Given the description of an element on the screen output the (x, y) to click on. 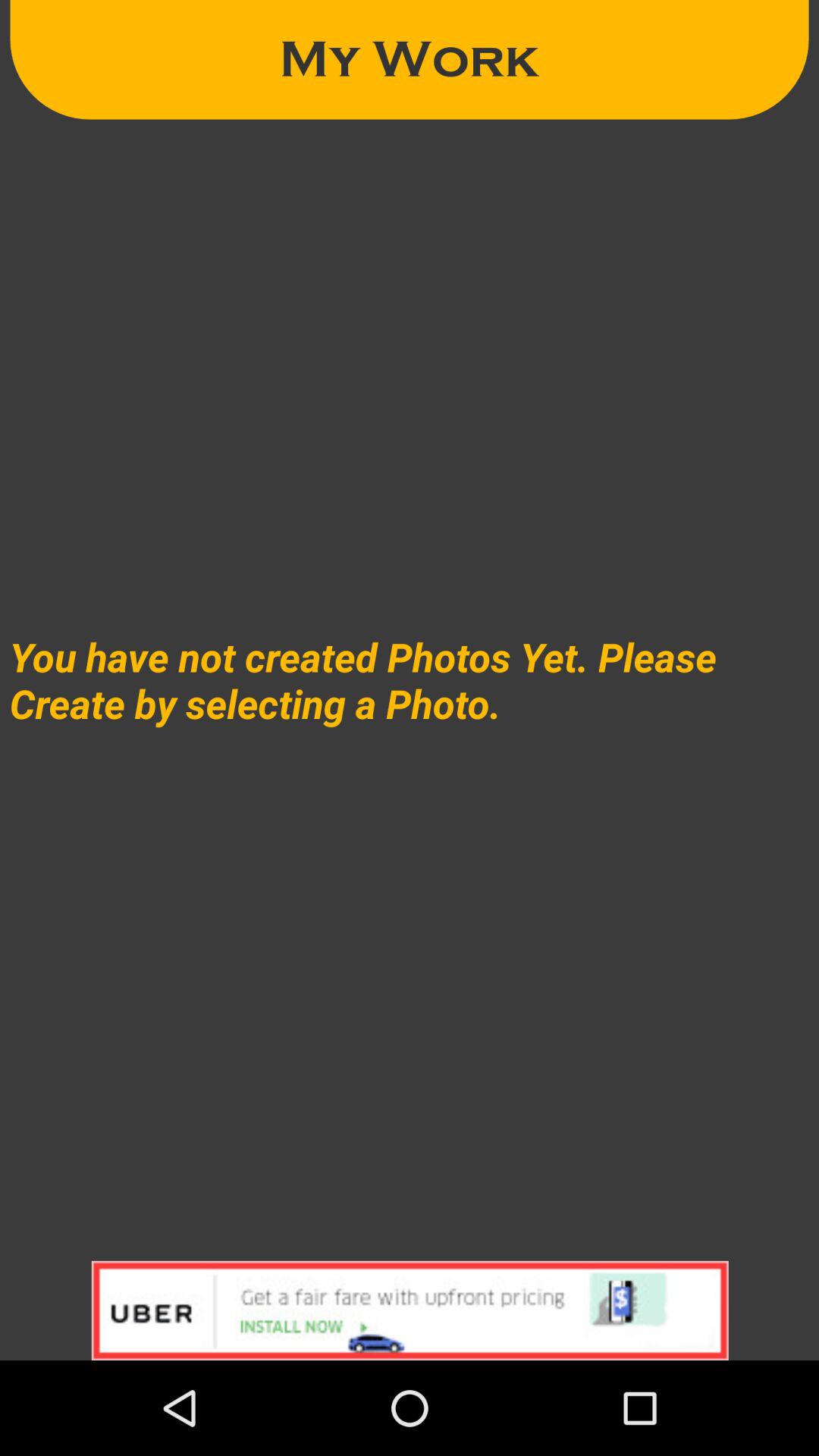
choose the icon below you have not app (409, 1310)
